Given the description of an element on the screen output the (x, y) to click on. 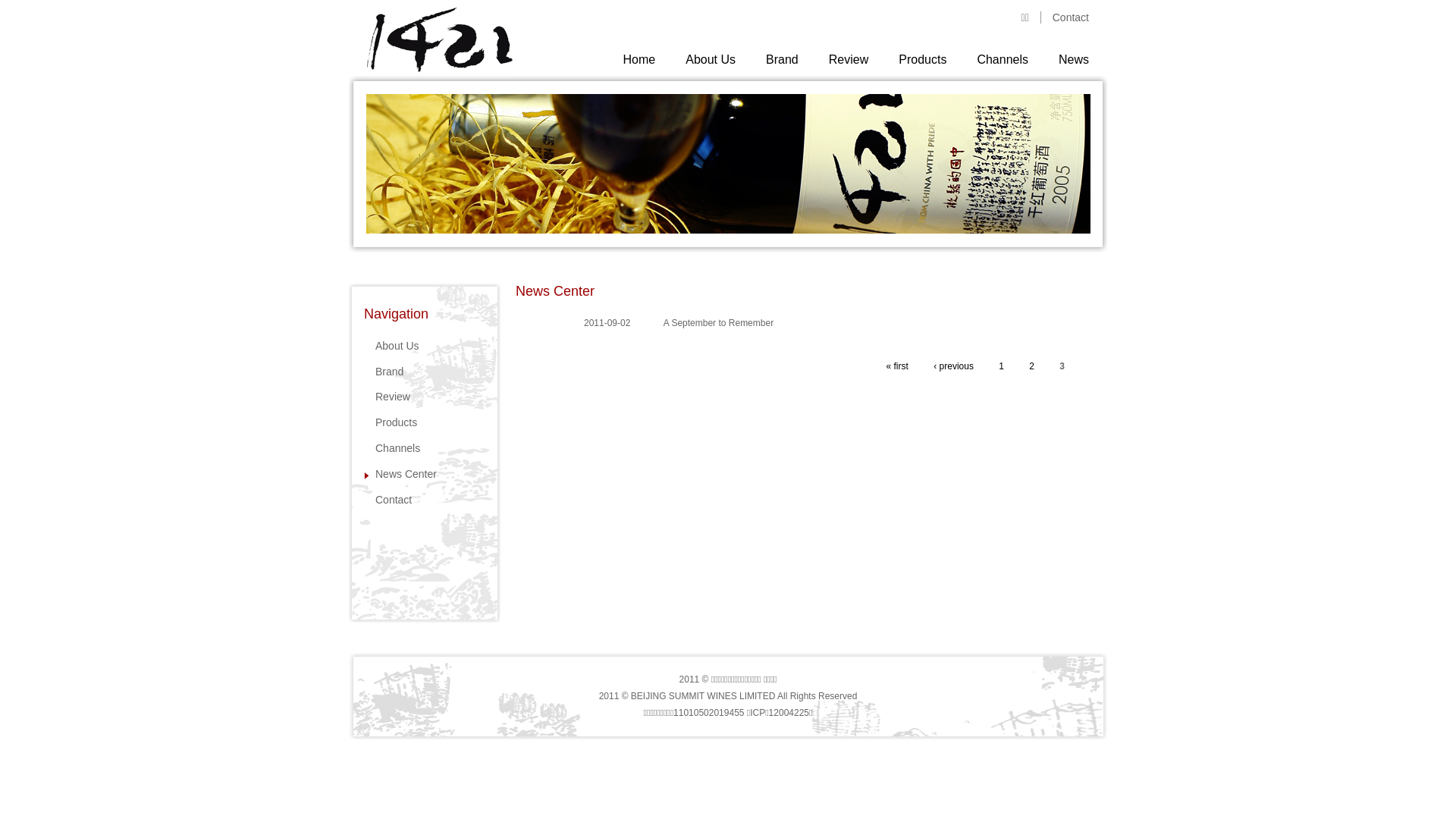
Channels Element type: text (1002, 59)
Review Element type: text (387, 396)
Contact Element type: text (387, 499)
Contact Element type: text (1070, 17)
About Us Element type: text (391, 345)
News Element type: text (1073, 59)
A September to Remember Element type: text (718, 322)
Brand Element type: text (383, 371)
Brand Element type: text (781, 59)
Review Element type: text (848, 59)
Products Element type: text (922, 59)
News Center Element type: text (400, 473)
About Us Element type: text (710, 59)
2 Element type: text (1031, 365)
Products Element type: text (390, 422)
1 Element type: text (1001, 365)
Channels Element type: text (392, 448)
Home Element type: text (639, 59)
